Given the description of an element on the screen output the (x, y) to click on. 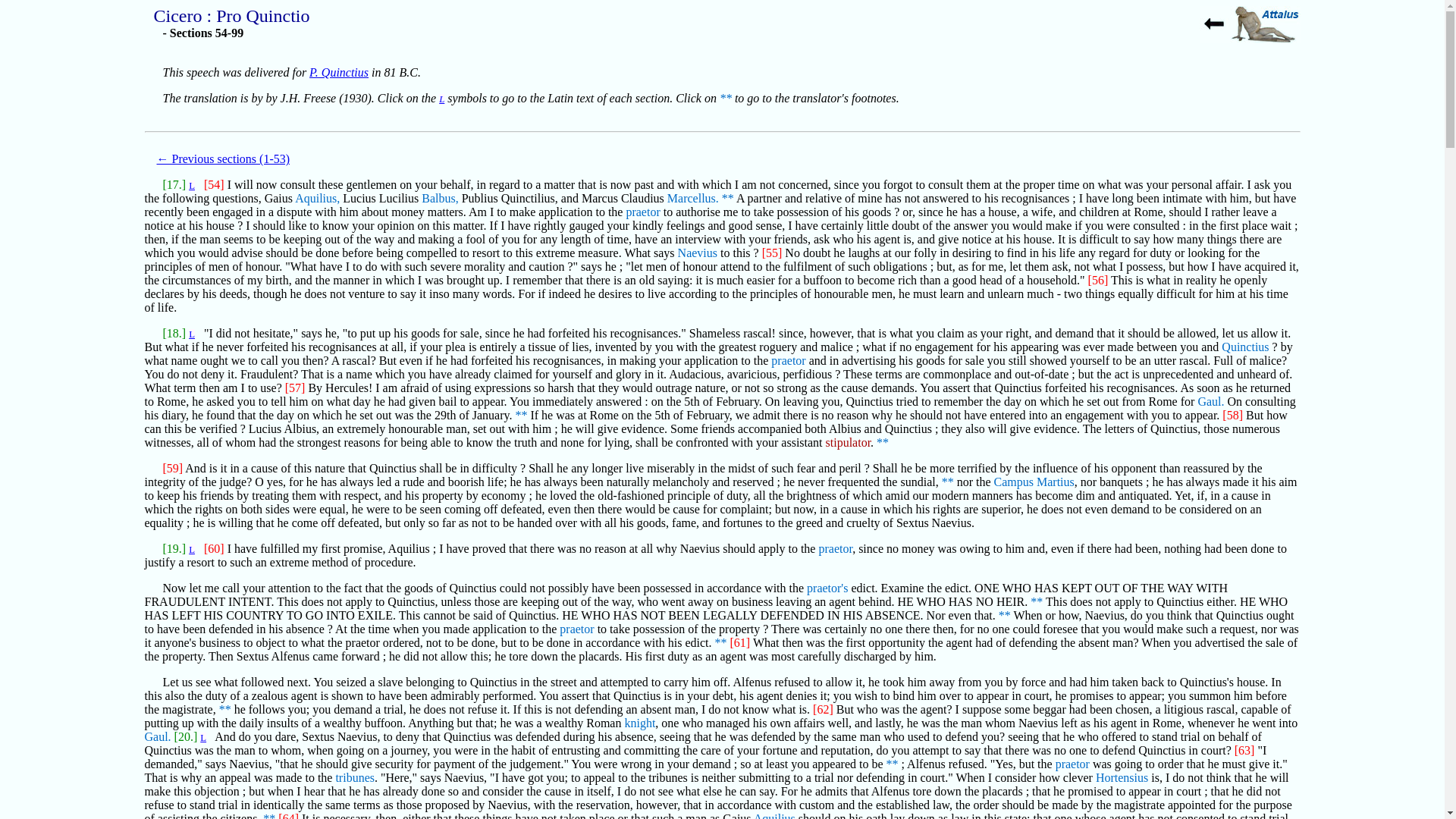
Quinctius (1244, 346)
61 (947, 481)
P. Quinctius (338, 72)
59 (521, 414)
Campus Martius (1034, 481)
praetor's (826, 587)
Gaul. (1210, 400)
Naevius (697, 252)
Aquilius, (317, 197)
67 (269, 815)
64 (720, 642)
63 (1004, 615)
praetor (788, 359)
praetor (576, 628)
Balbus, (440, 197)
